Given the description of an element on the screen output the (x, y) to click on. 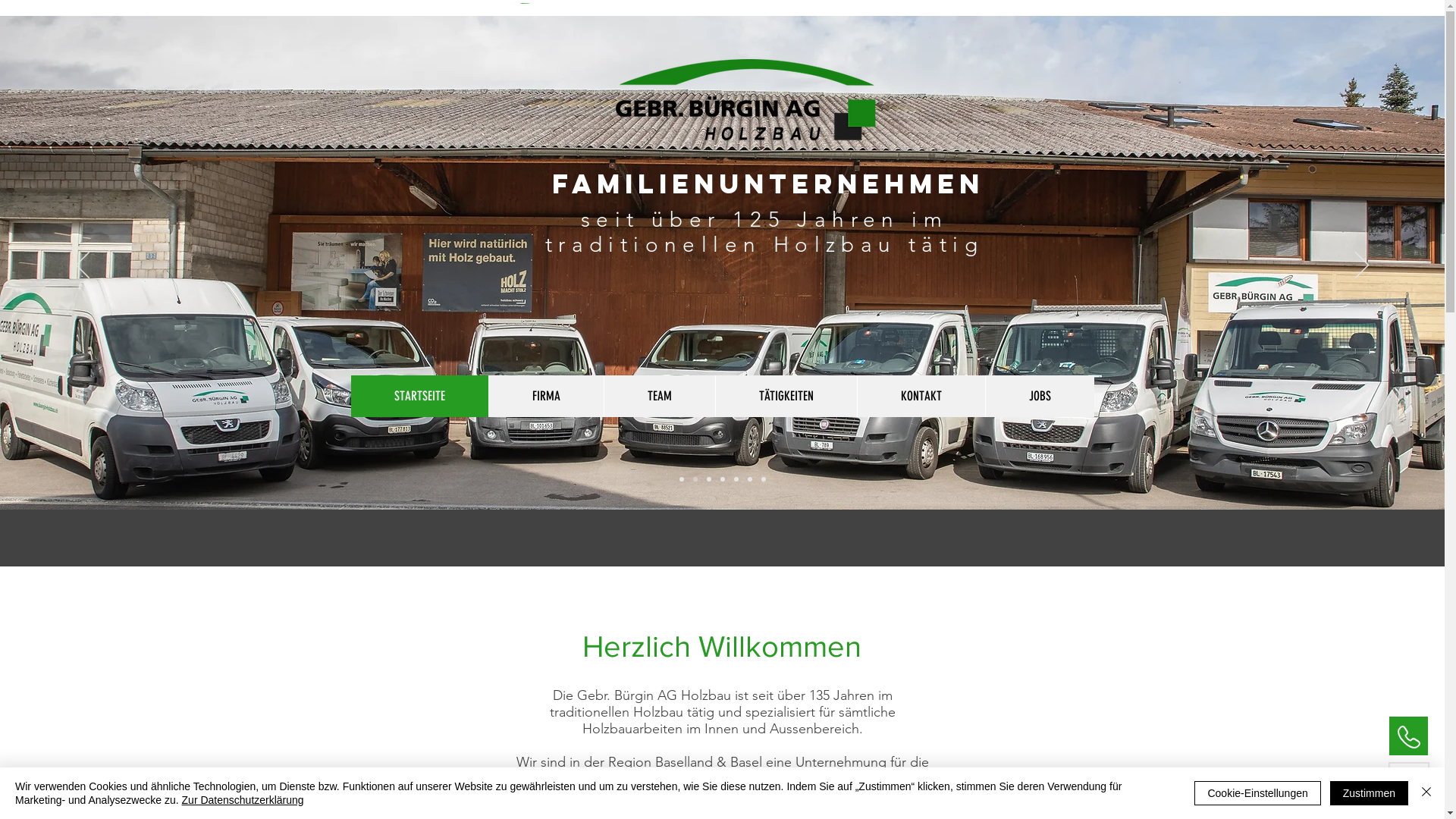
FIRMA Element type: text (545, 396)
JOBS Element type: text (1038, 396)
STARTSEITE Element type: text (418, 396)
TEAM Element type: text (659, 396)
KONTAKT Element type: text (920, 396)
Cookie-Einstellungen Element type: text (1257, 793)
Zustimmen Element type: text (1369, 793)
